Given the description of an element on the screen output the (x, y) to click on. 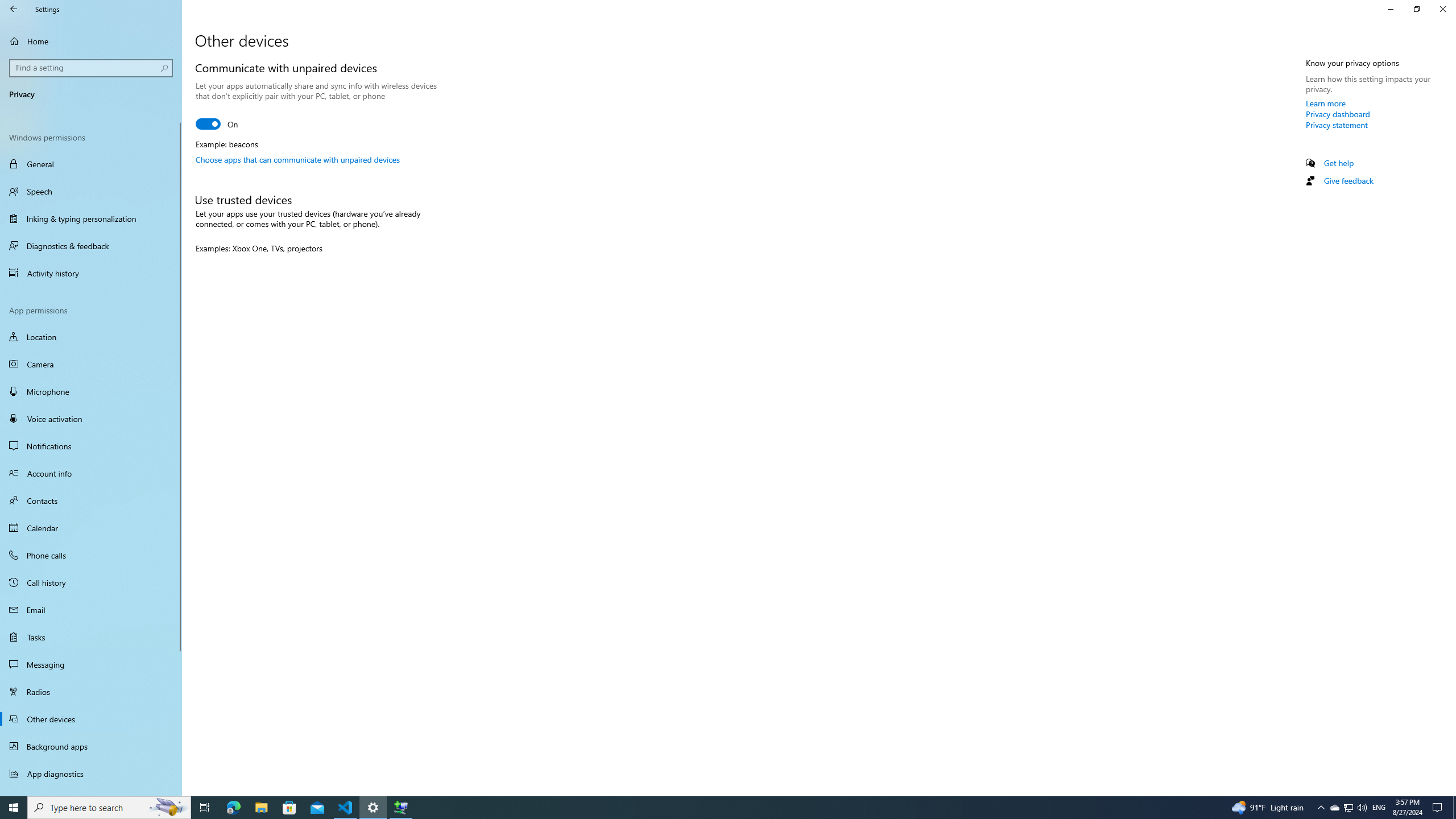
Activity history (91, 272)
Radios (91, 691)
Home (91, 40)
Calendar (91, 527)
Settings - 1 running window (373, 807)
Contacts (91, 500)
Minimize Settings (1390, 9)
Tray Input Indicator - English (United States) (1378, 807)
Automatic file downloads (91, 791)
Other devices (91, 718)
Email (91, 609)
